Given the description of an element on the screen output the (x, y) to click on. 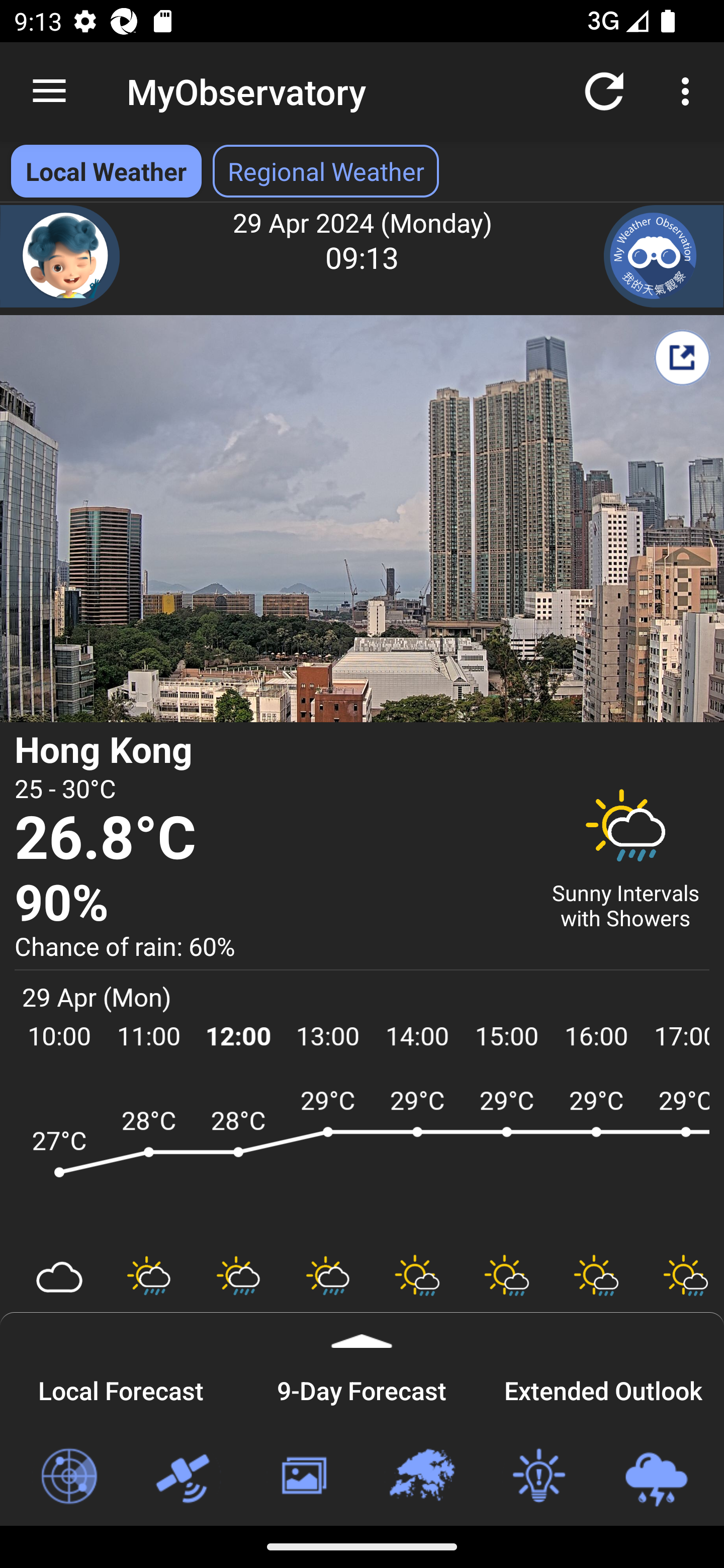
Navigate up (49, 91)
Refresh (604, 90)
More options (688, 90)
Local Weather Local Weather selected (105, 170)
Regional Weather Select Regional Weather (325, 170)
Chatbot (60, 256)
My Weather Observation (663, 256)
Share My Weather Report (681, 357)
26.8°C Temperature
26.8 degree Celsius (270, 839)
90% Relative Humidity
90 percent (270, 903)
ARWF (361, 1160)
Expand (362, 1330)
Local Forecast (120, 1387)
Extended Outlook (603, 1387)
Radar Images (68, 1476)
Satellite Images (185, 1476)
Weather Photos (302, 1476)
Regional Weather (420, 1476)
Weather Tips (537, 1476)
Loc-based Rain & Lightning Forecast (655, 1476)
